Given the description of an element on the screen output the (x, y) to click on. 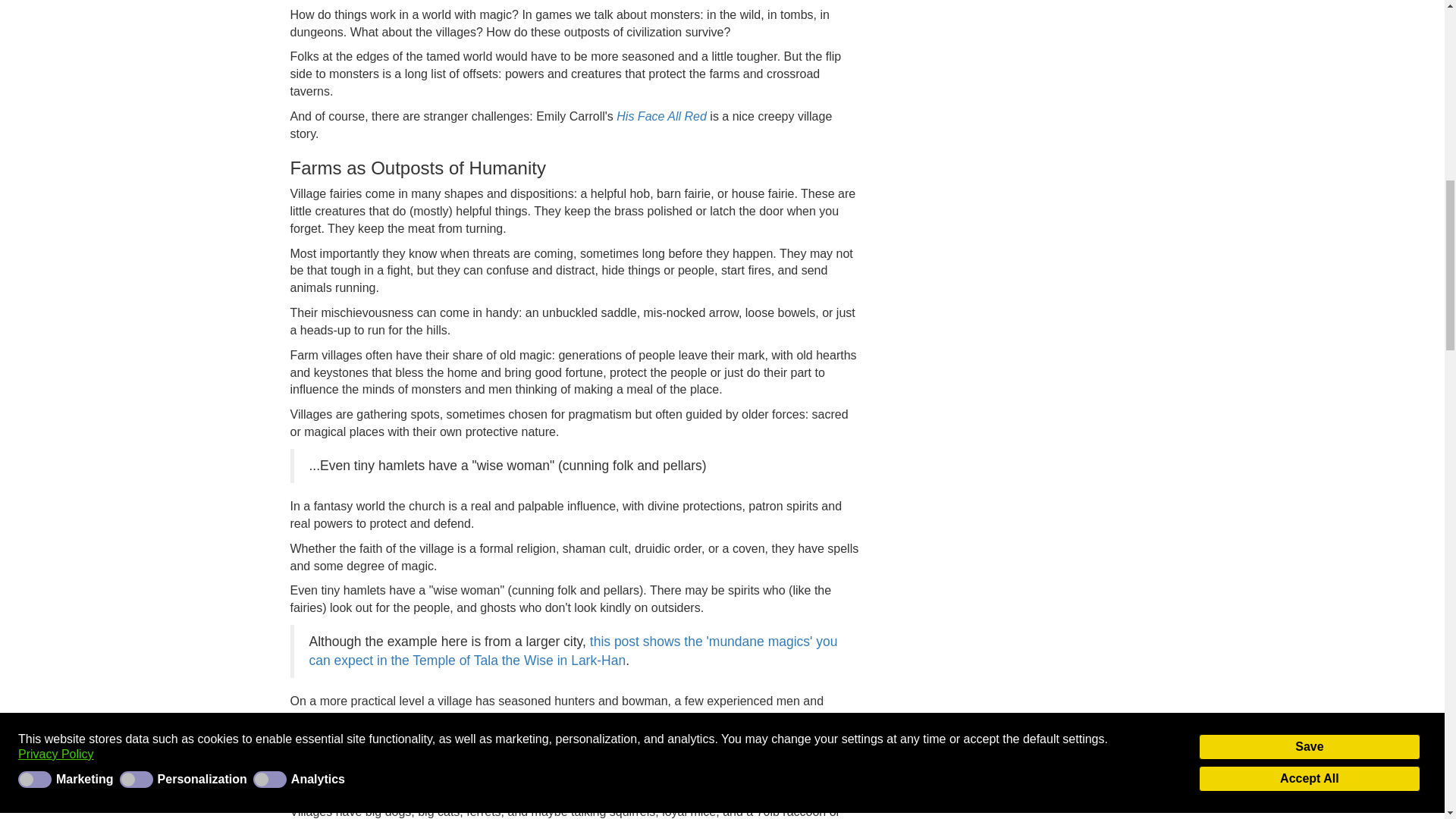
His Face All Red (660, 115)
